Given the description of an element on the screen output the (x, y) to click on. 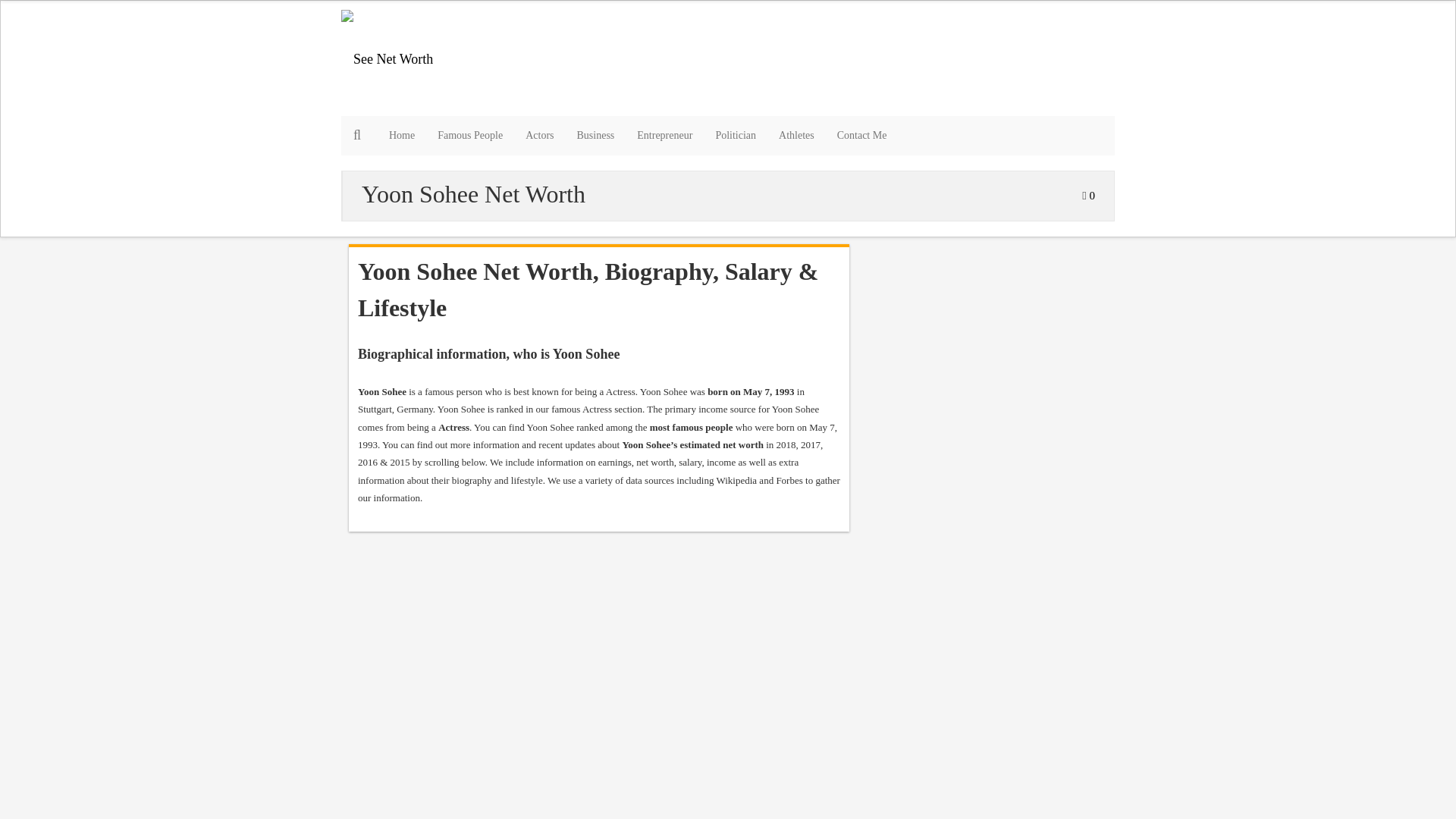
Business (596, 135)
Athletes (796, 135)
Politician (735, 135)
Famous People (469, 135)
Entrepreneur (664, 135)
Home (401, 135)
Home (401, 135)
Entrepreneur (664, 135)
Contact Me (861, 135)
Actors (538, 135)
